Given the description of an element on the screen output the (x, y) to click on. 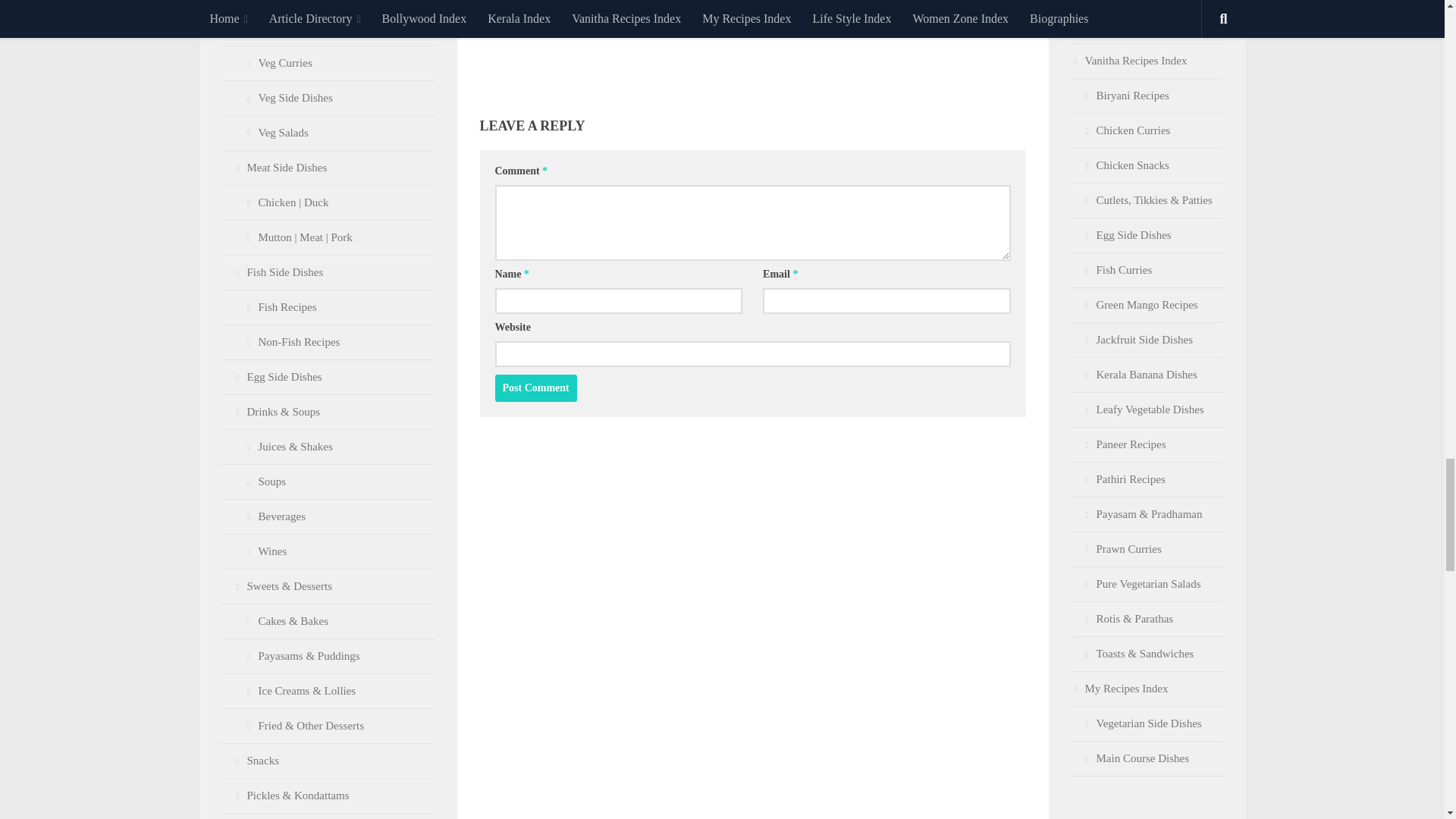
Post Comment (535, 388)
